Given the description of an element on the screen output the (x, y) to click on. 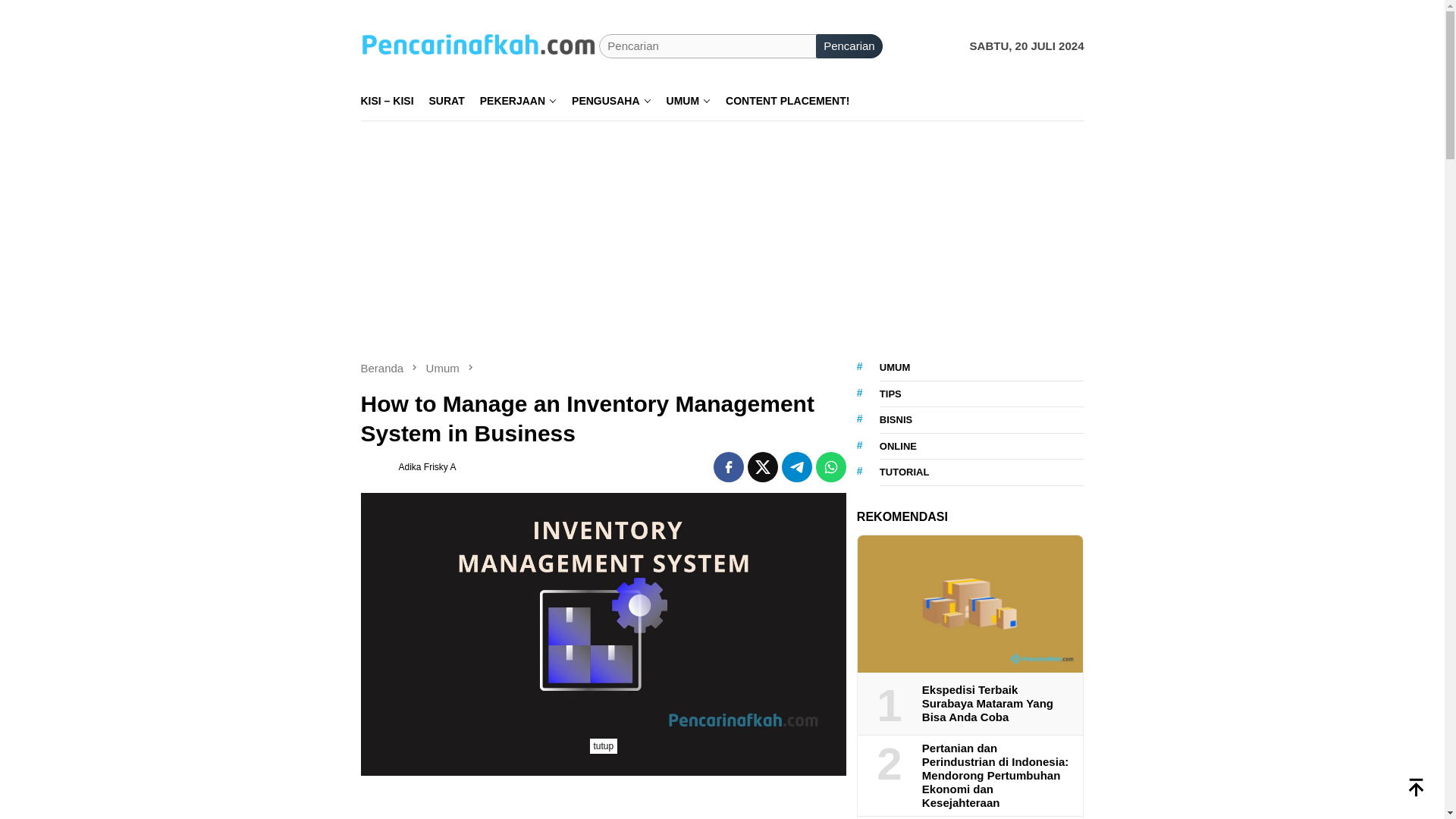
Permalink ke: Adika Frisky A (427, 466)
Sebarkan ini (728, 467)
Pencarinafkah.com (480, 44)
Tweet ini (762, 467)
WhatsApp ini (830, 467)
Telegram Share (796, 467)
Pencarian (848, 46)
Beranda (384, 367)
PEKERJAAN (517, 100)
CONTENT PLACEMENT! (787, 100)
UMUM (689, 100)
Advertisement (603, 805)
Pencarinafkah.com (480, 45)
Adika Frisky A (427, 466)
